Given the description of an element on the screen output the (x, y) to click on. 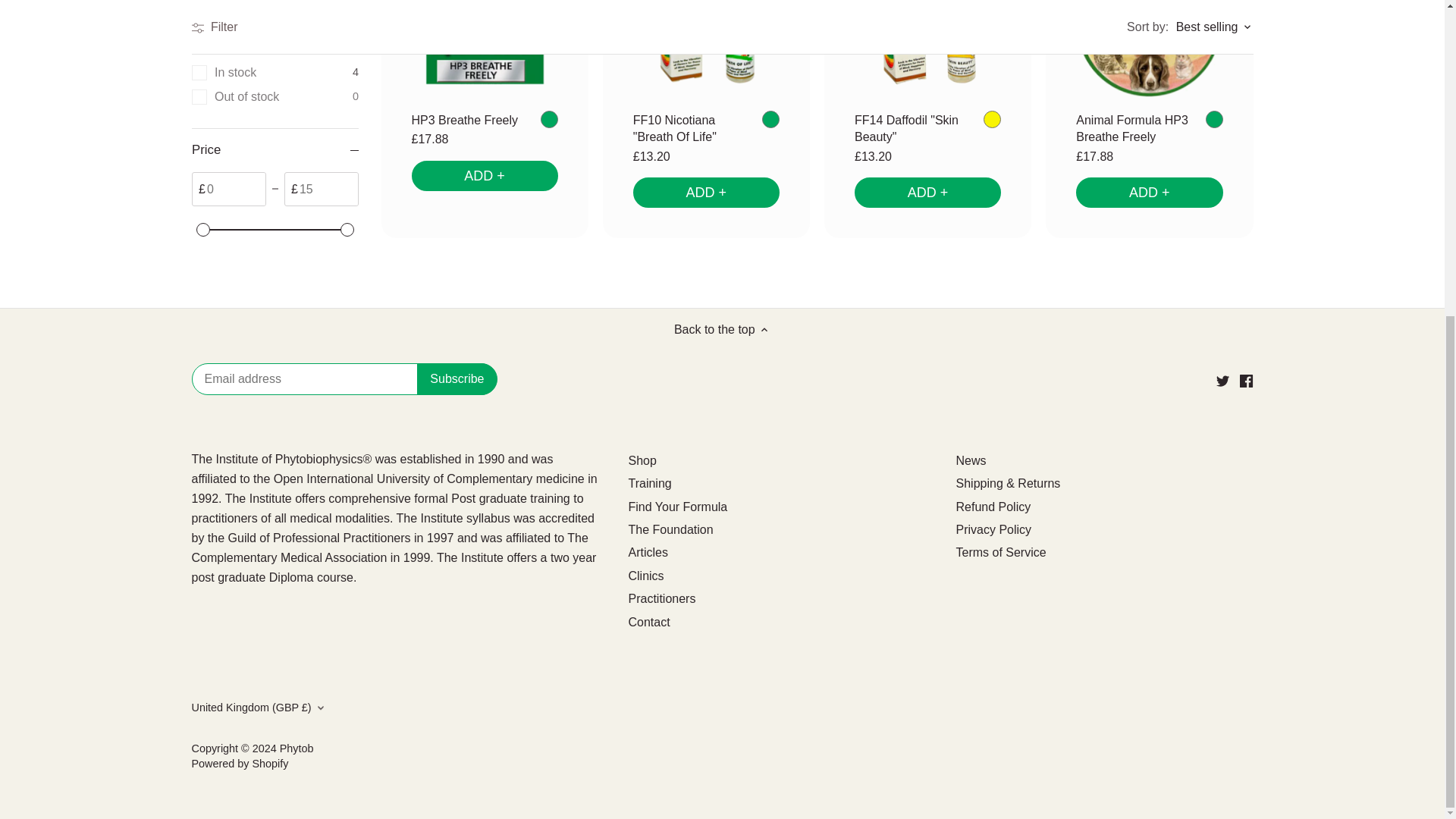
Twitter (1221, 380)
Facebook (1246, 380)
Subscribe (456, 378)
